Given the description of an element on the screen output the (x, y) to click on. 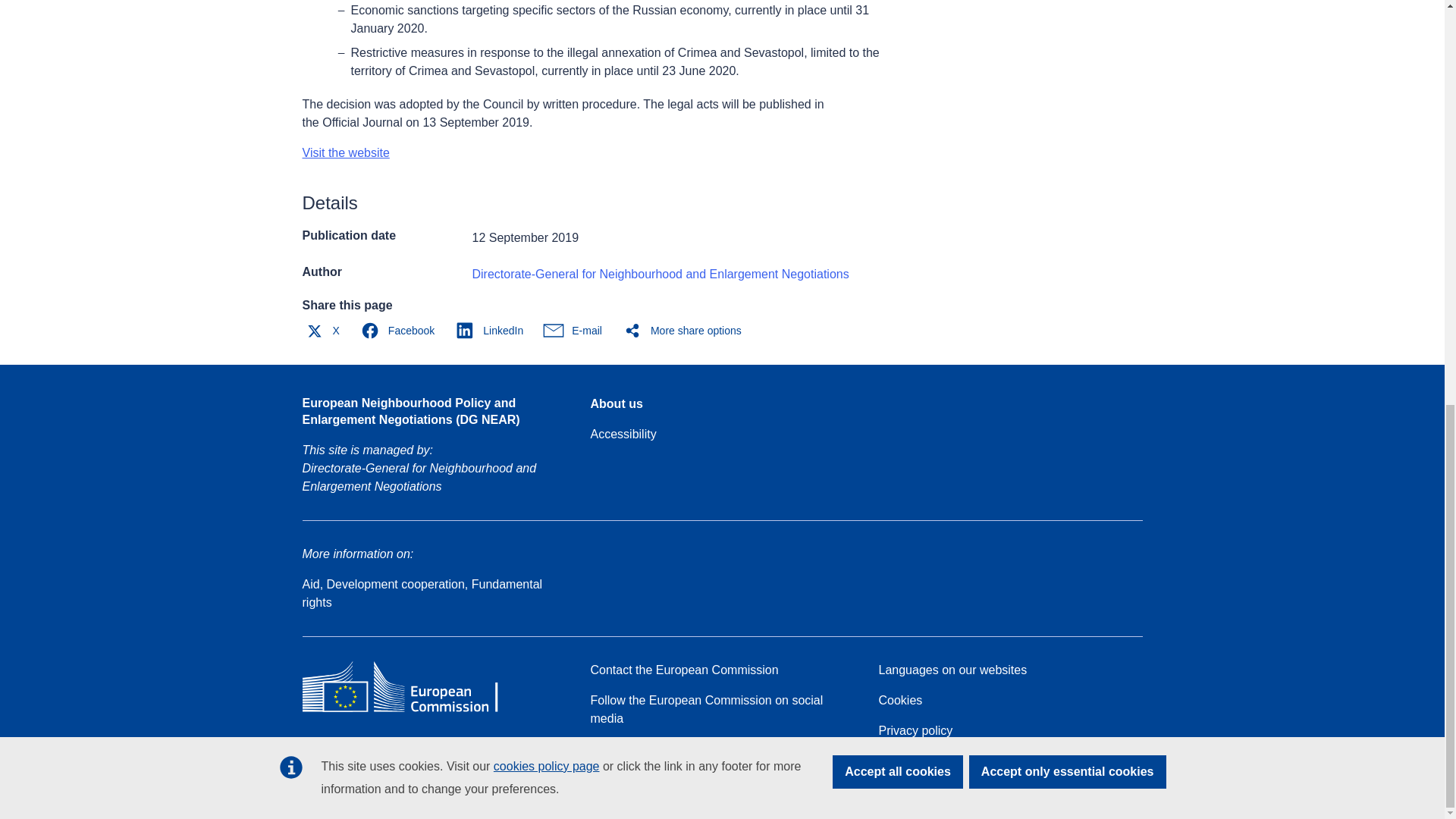
European Commission (411, 711)
